Given the description of an element on the screen output the (x, y) to click on. 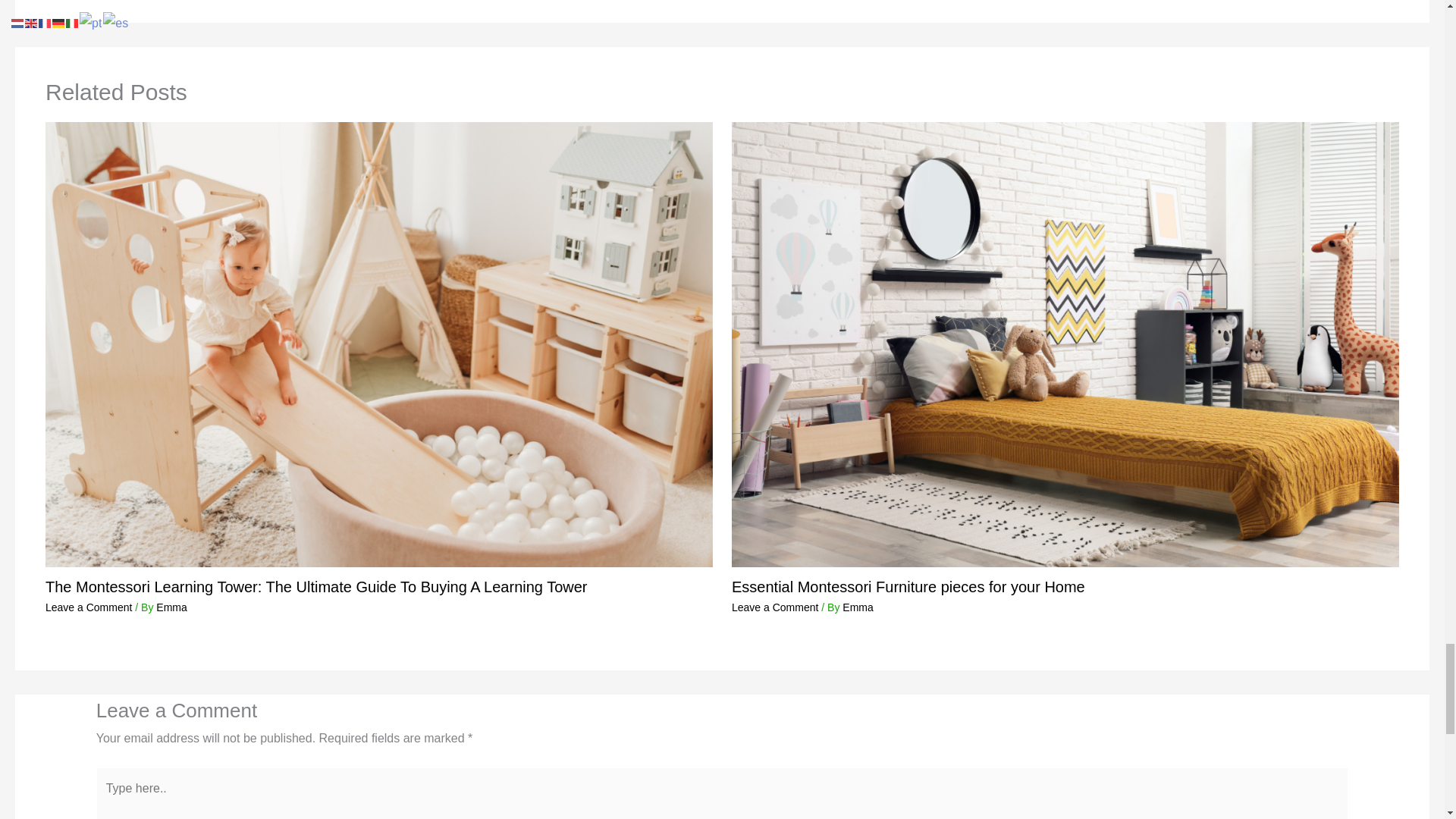
Leave a Comment (88, 607)
View all posts by Emma (170, 607)
Essential Montessori Furniture pieces for your Home (908, 586)
Emma (170, 607)
View all posts by Emma (857, 607)
Emma (857, 607)
Leave a Comment (775, 607)
